Given the description of an element on the screen output the (x, y) to click on. 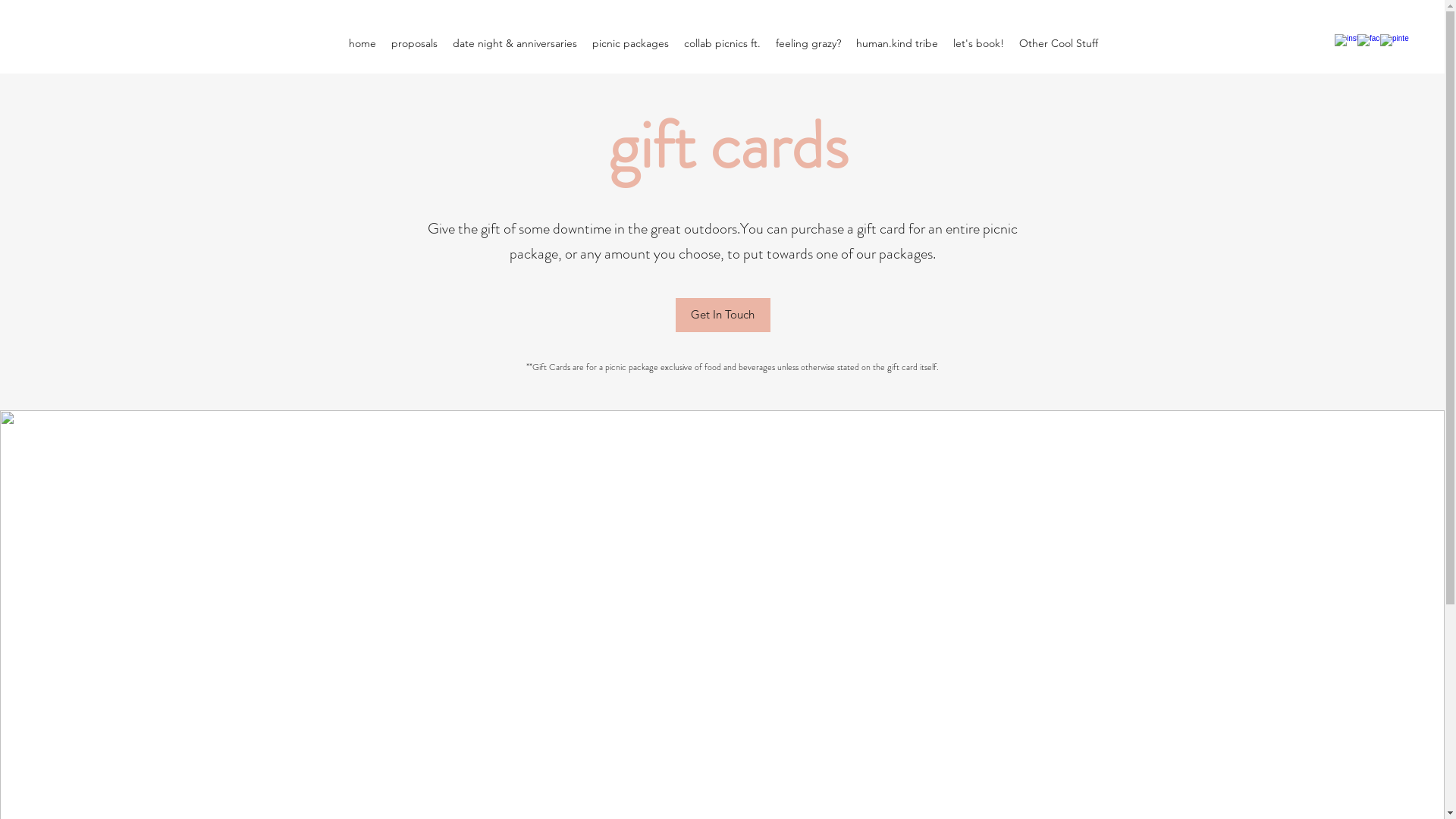
human.kind tribe Element type: text (895, 43)
picnic packages Element type: text (629, 43)
let's book! Element type: text (977, 43)
feeling grazy? Element type: text (807, 43)
proposals Element type: text (414, 43)
home Element type: text (362, 43)
collab picnics ft. Element type: text (722, 43)
date night & anniversaries Element type: text (513, 43)
Get In Touch Element type: text (721, 315)
